Given the description of an element on the screen output the (x, y) to click on. 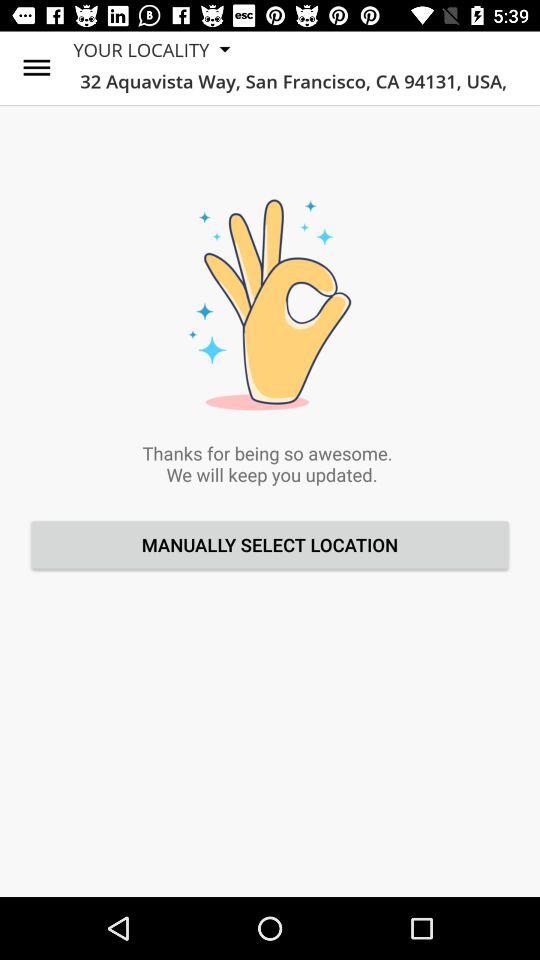
click the icon next to your locality (36, 68)
